Given the description of an element on the screen output the (x, y) to click on. 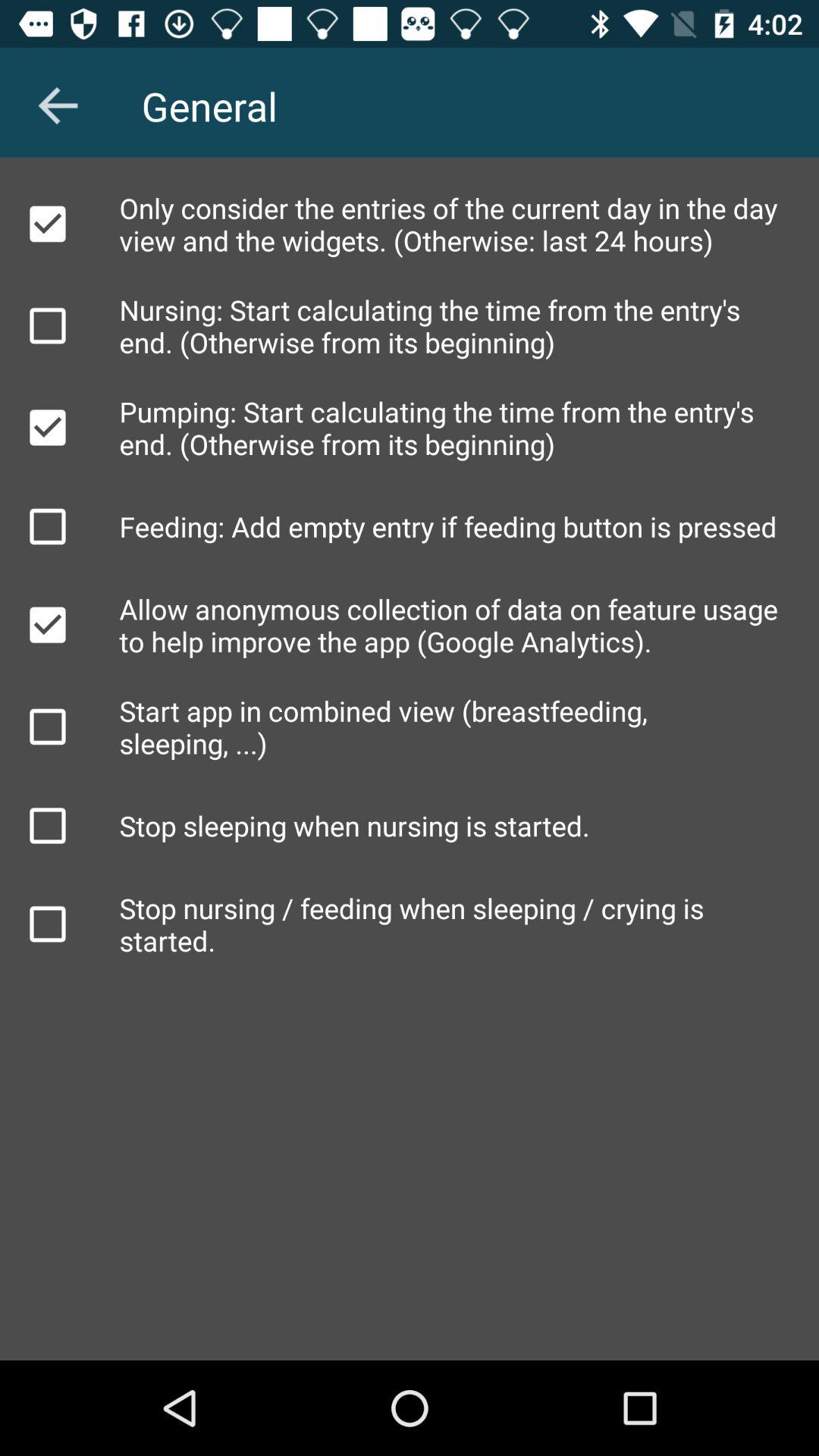
uncheck box (47, 624)
